Given the description of an element on the screen output the (x, y) to click on. 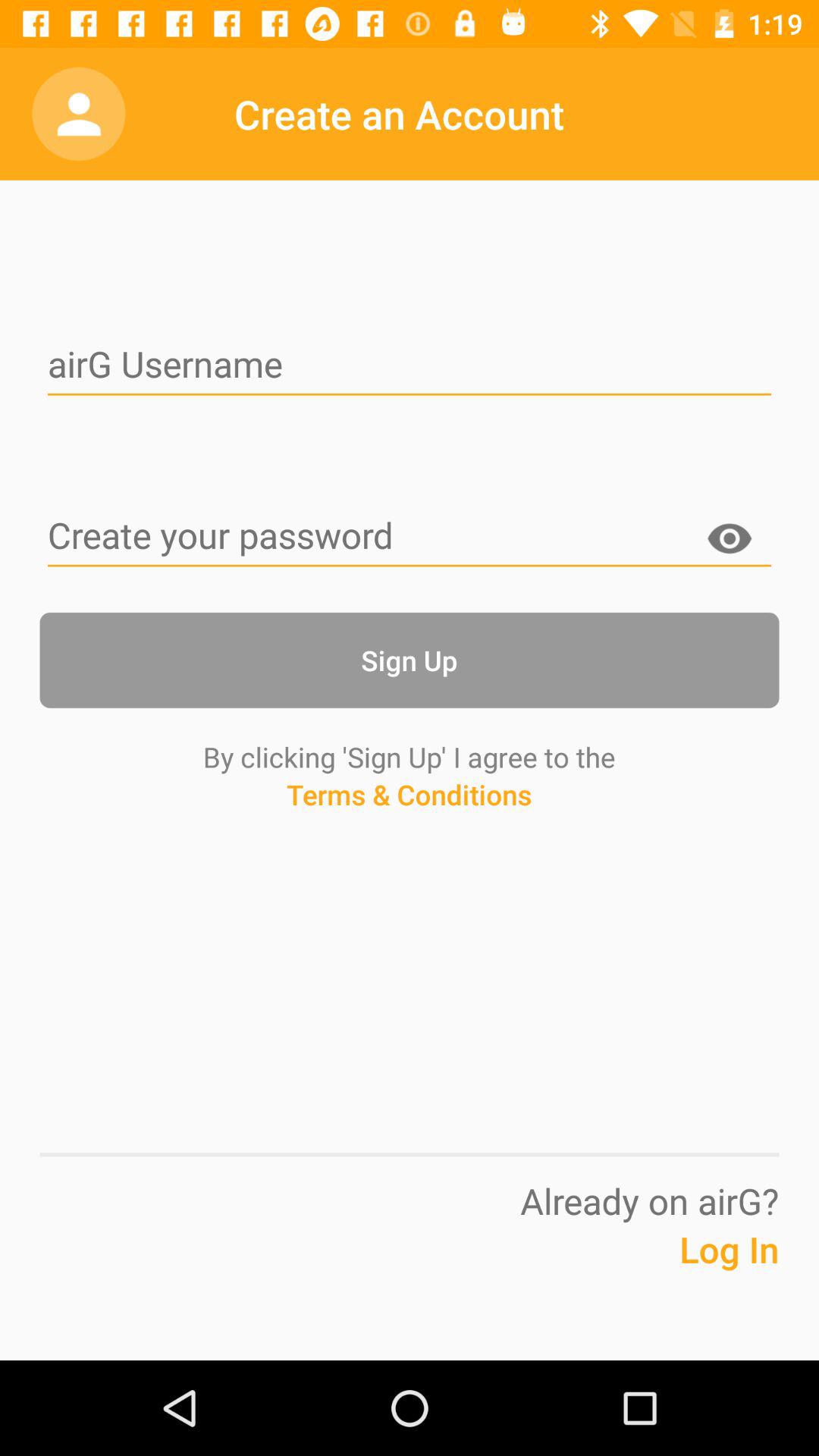
go to username (409, 366)
